Given the description of an element on the screen output the (x, y) to click on. 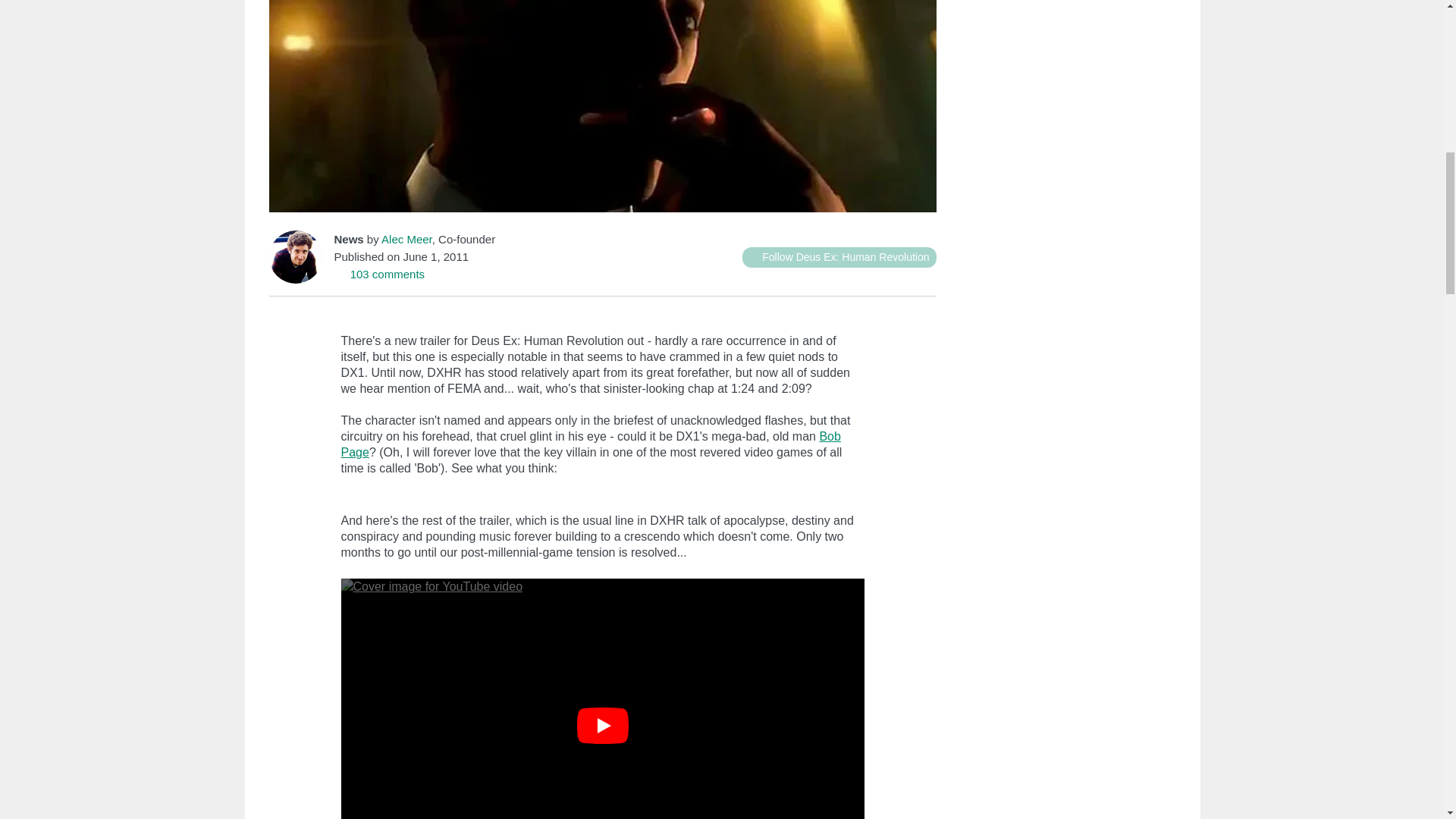
103 comments (379, 273)
Alec Meer (406, 238)
Follow Deus Ex: Human Revolution (839, 257)
Bob Page (590, 443)
